Given the description of an element on the screen output the (x, y) to click on. 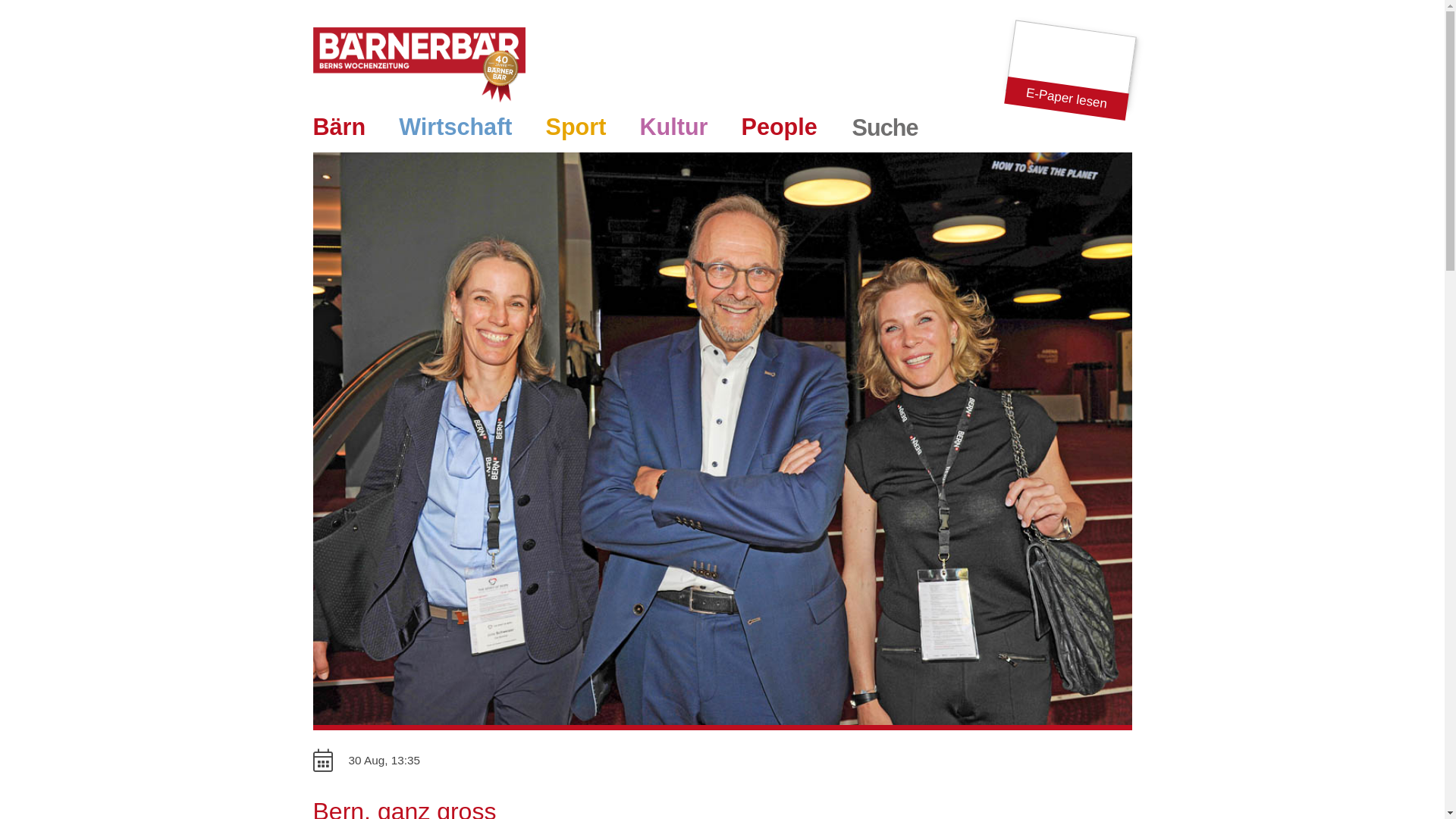
Suche Element type: text (885, 126)
Wirtschaft Element type: text (455, 129)
Kultur Element type: text (673, 129)
People Element type: text (778, 129)
Sport Element type: text (576, 129)
